Given the description of an element on the screen output the (x, y) to click on. 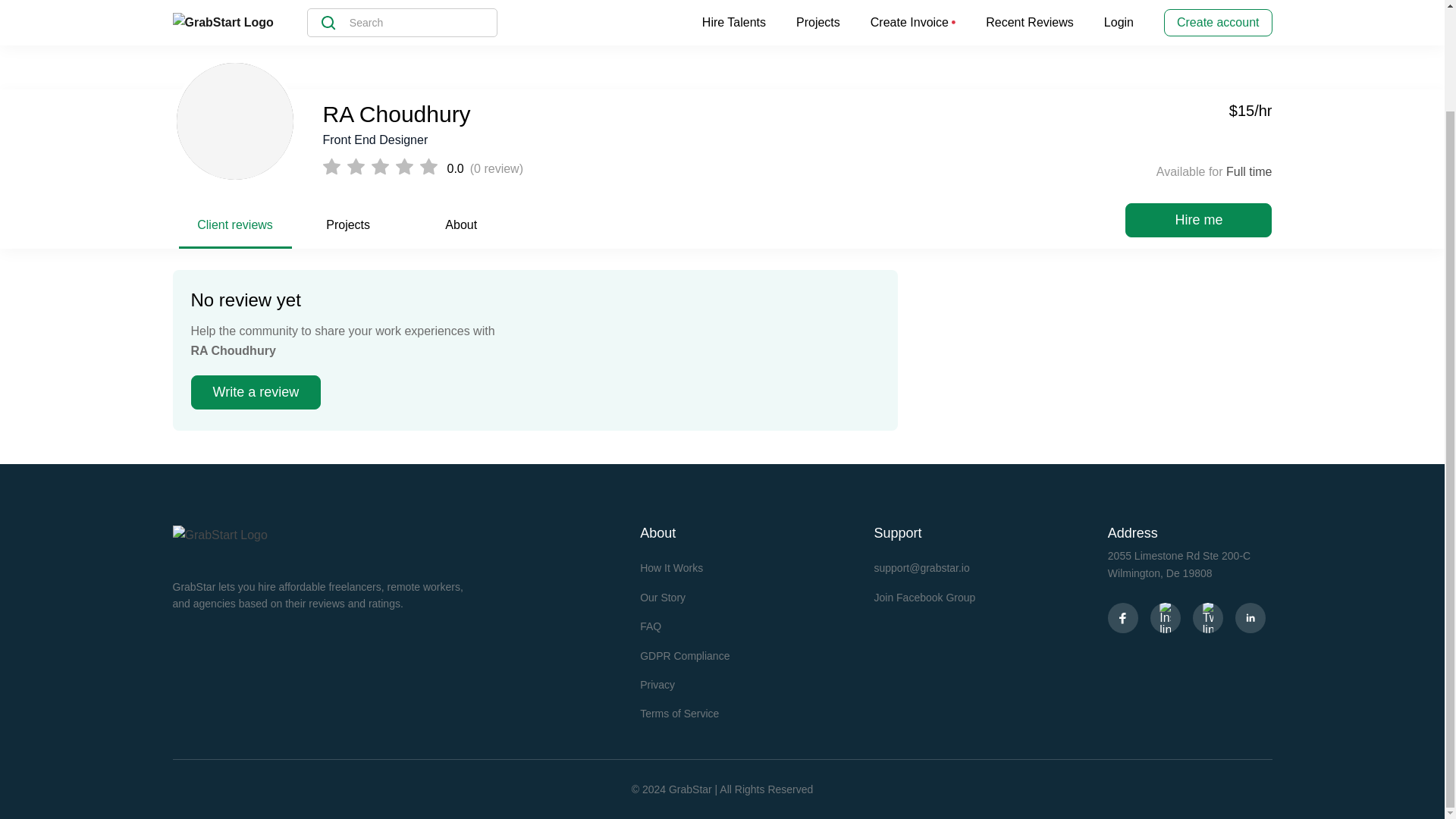
Hire me (1198, 220)
Client reviews (235, 232)
Our Story (662, 597)
FAQ (650, 625)
Write a review (255, 392)
Front End Designer (657, 139)
Terms of Service (679, 713)
About (461, 232)
How It Works (671, 567)
Projects (348, 232)
Privacy (657, 684)
Join Facebook Group (924, 597)
GDPR Compliance (684, 655)
